Given the description of an element on the screen output the (x, y) to click on. 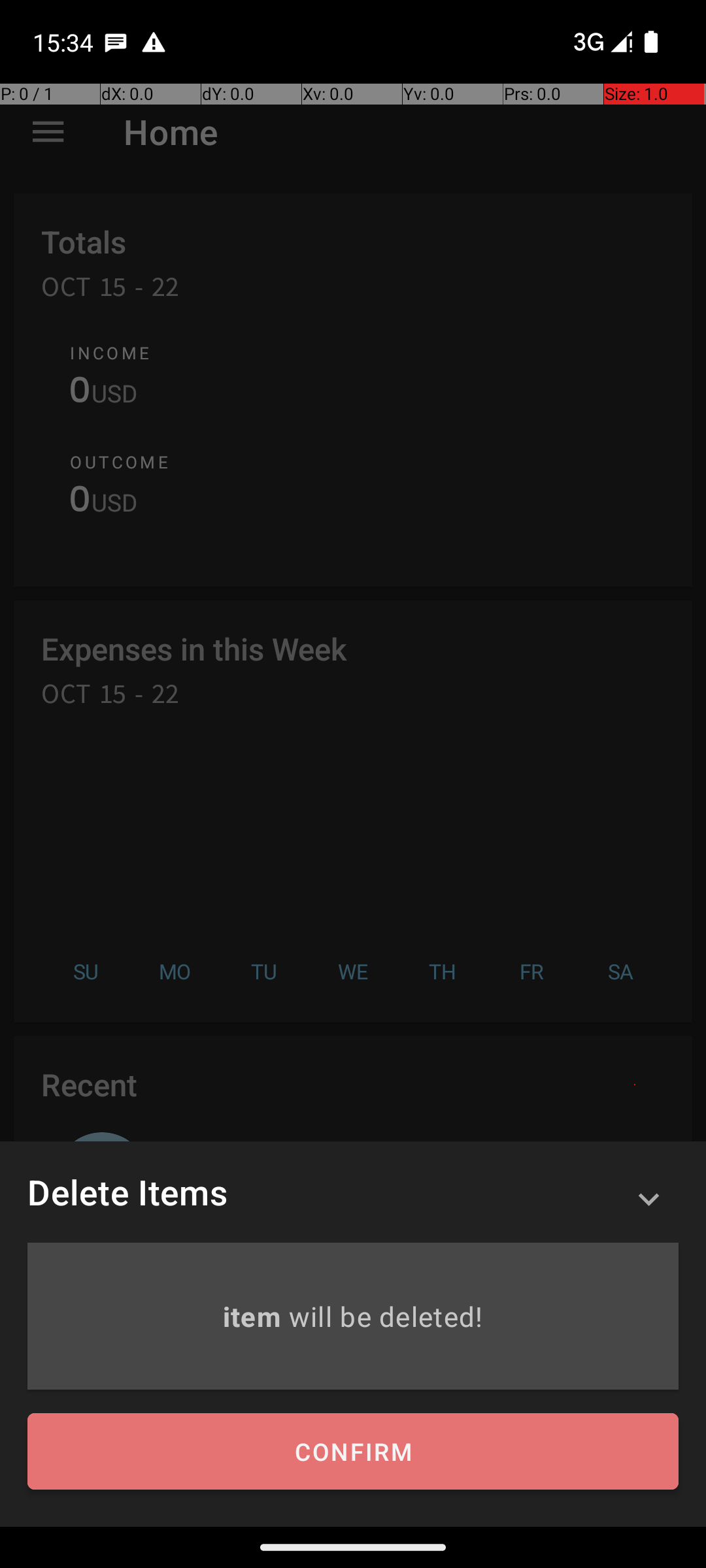
Delete Items Element type: android.widget.TextView (127, 1191)
item  Element type: android.widget.TextView (255, 1315)
will be deleted! Element type: android.widget.TextView (385, 1315)
CONFIRM Element type: android.widget.Button (352, 1451)
